Given the description of an element on the screen output the (x, y) to click on. 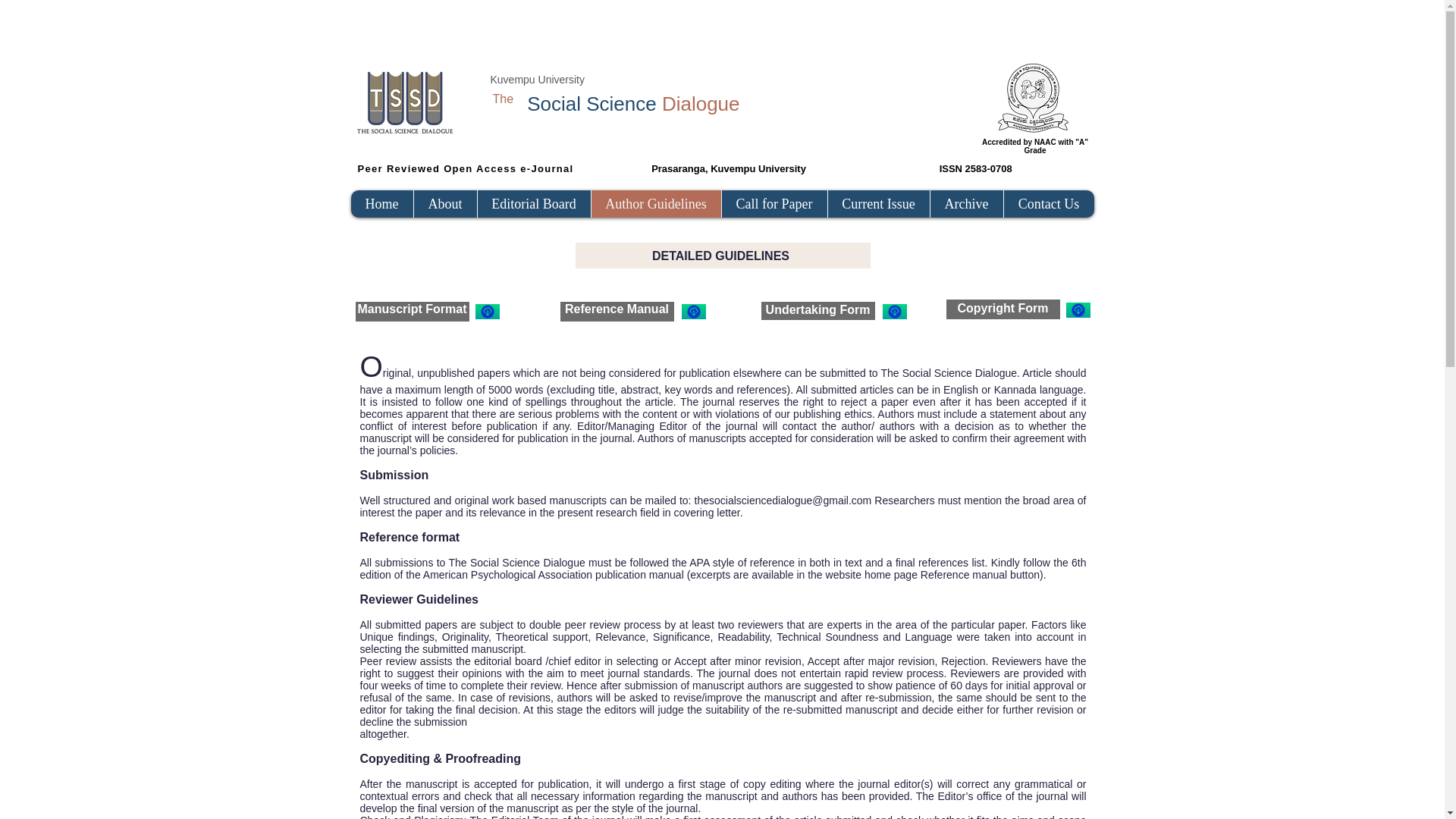
Archive (966, 203)
Call for Paper (773, 203)
Reference Manual (616, 308)
Peer Reviewed Open Access e-Journal  (468, 168)
Author Guidelines (654, 203)
Copyright Form (1002, 308)
Undertaking Form (817, 309)
Home (381, 203)
Social Science Dialogue (633, 103)
Manuscript Format (410, 308)
About (444, 203)
Editorial Board (532, 203)
Current Issue (877, 203)
Contact Us (1048, 203)
